Given the description of an element on the screen output the (x, y) to click on. 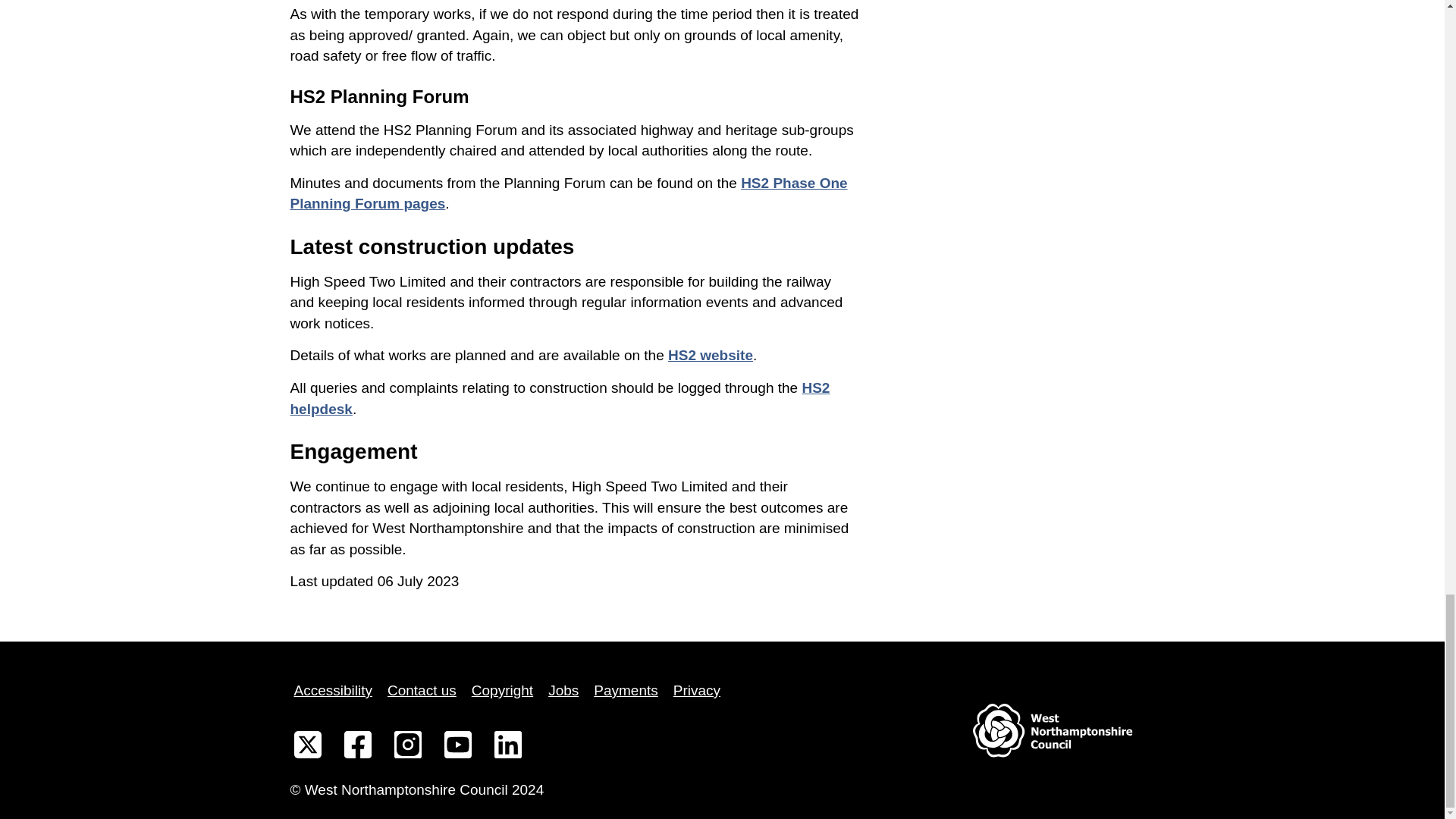
Copyright (502, 690)
Payments (625, 690)
HS2 Phase One Planning Forum pages (568, 193)
View our Twitter feed (306, 747)
Payments (625, 690)
Copyright (502, 690)
Privacy (696, 690)
Contact us (422, 690)
Accessibility (332, 690)
HS2 helpdesk (559, 398)
Jobs (563, 690)
View our Instagram feed (407, 747)
Contact us (422, 690)
View our Facebook page (356, 747)
Privacy (696, 690)
